Given the description of an element on the screen output the (x, y) to click on. 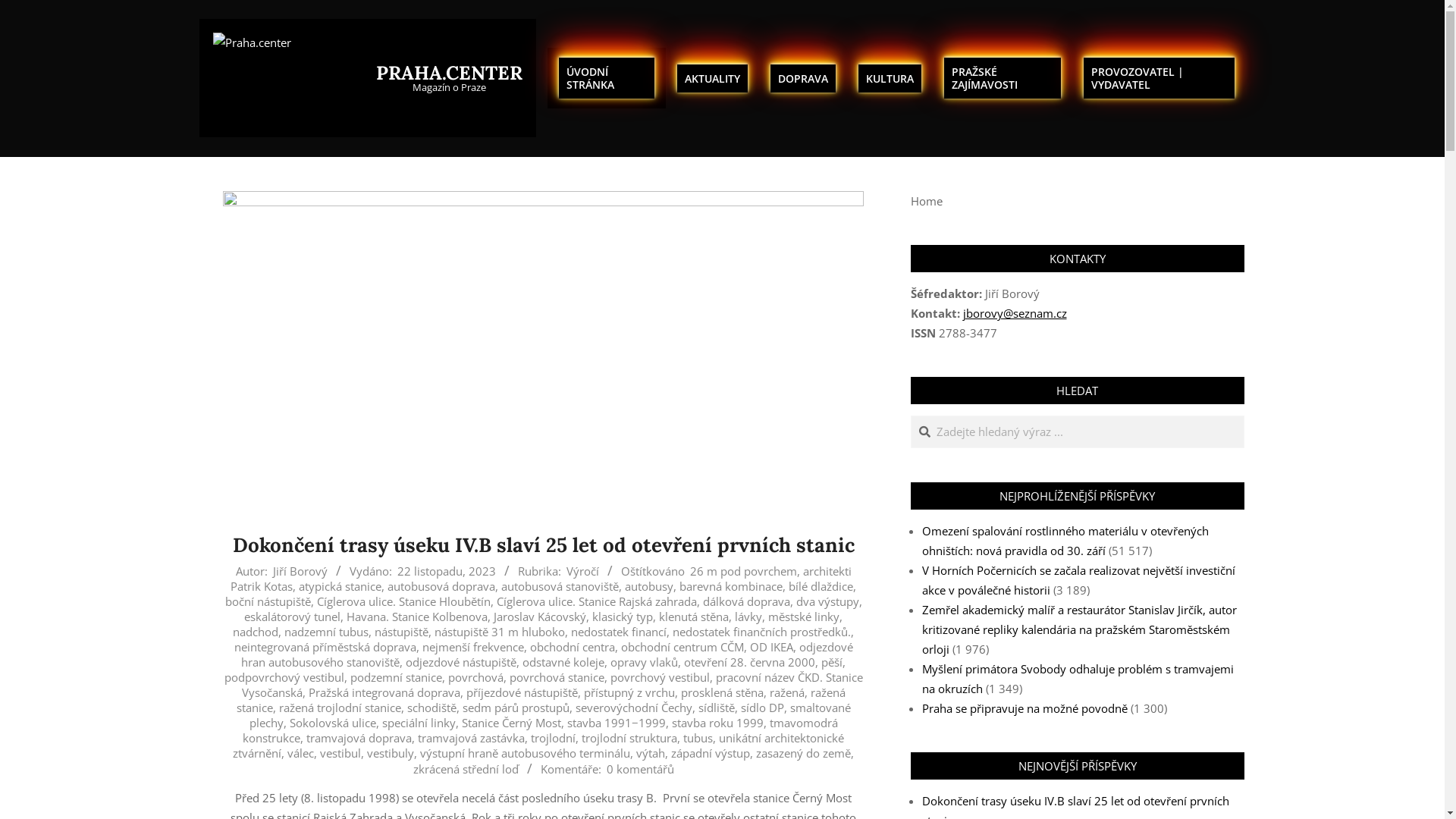
tubus Element type: text (697, 737)
vestibul Element type: text (340, 752)
architekti Patrik Kotas Element type: text (540, 578)
KULTURA Element type: text (889, 78)
nadchod Element type: text (255, 631)
PROVOZOVATEL | VYDAVATEL Element type: text (1158, 77)
AKTUALITY Element type: text (712, 78)
jborovy@seznam.cz Element type: text (1014, 312)
DOPRAVA Element type: text (803, 78)
stavba roku 1999 Element type: text (717, 722)
autobusy Element type: text (648, 585)
vestibuly Element type: text (390, 752)
Havana. Stanice Kolbenova Element type: text (416, 616)
PRAHA.CENTER Element type: text (449, 72)
26 m pod povrchem Element type: text (743, 570)
OD IKEA Element type: text (770, 646)
